Given the description of an element on the screen output the (x, y) to click on. 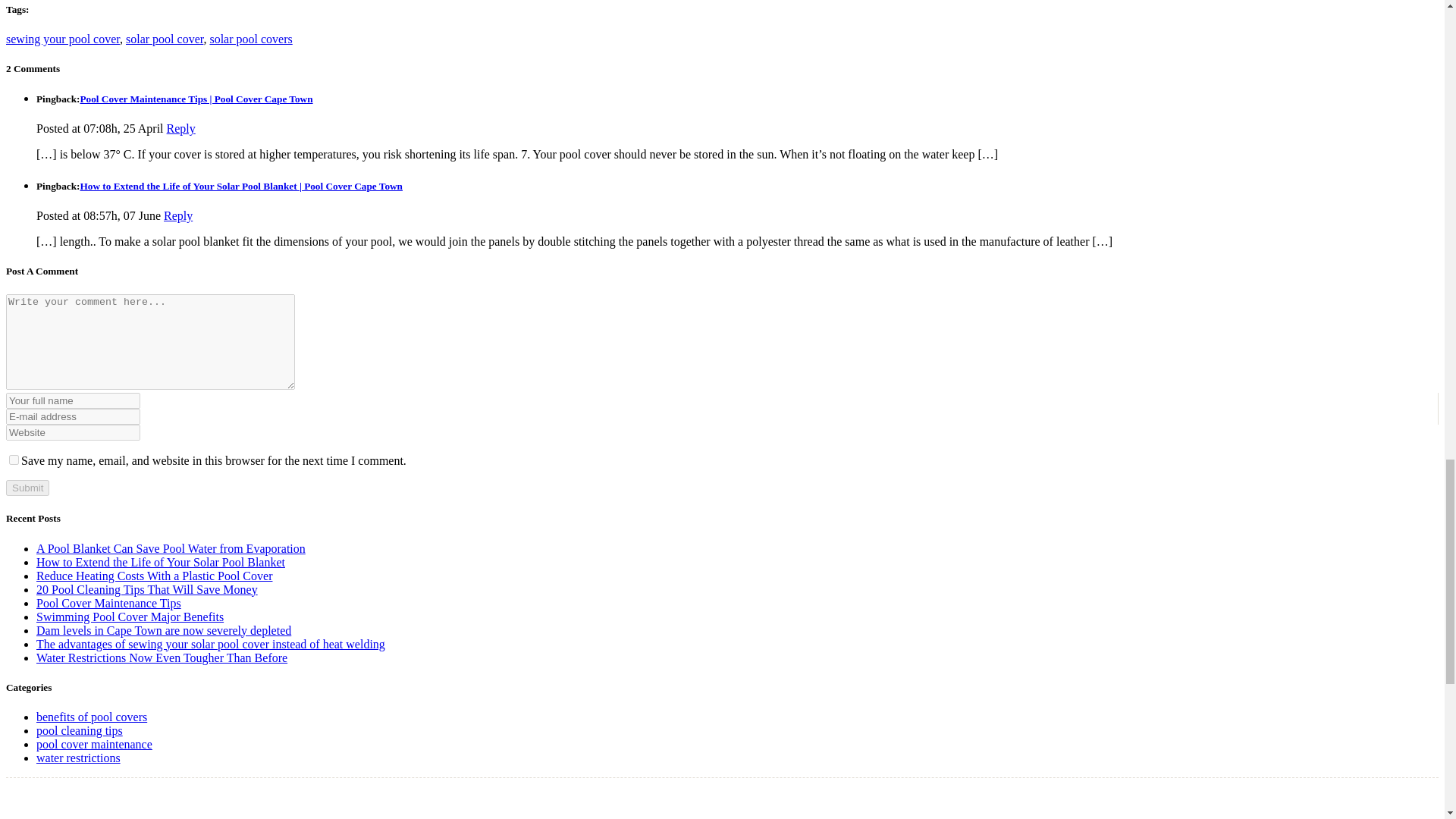
Reply (181, 128)
Submit (27, 487)
solar pool covers (250, 38)
Swimming Pool Cover Major Benefits (130, 616)
Reply (177, 215)
solar pool cover (164, 38)
Dam levels in Cape Town are now severely depleted (163, 630)
Reduce Heating Costs With a Plastic Pool Cover (154, 575)
A Pool Blanket Can Save Pool Water from Evaporation (170, 548)
Pool Cover Maintenance Tips (108, 603)
yes (13, 460)
20 Pool Cleaning Tips That Will Save Money (146, 589)
Submit (27, 487)
How to Extend the Life of Your Solar Pool Blanket (160, 562)
sewing your pool cover (62, 38)
